Given the description of an element on the screen output the (x, y) to click on. 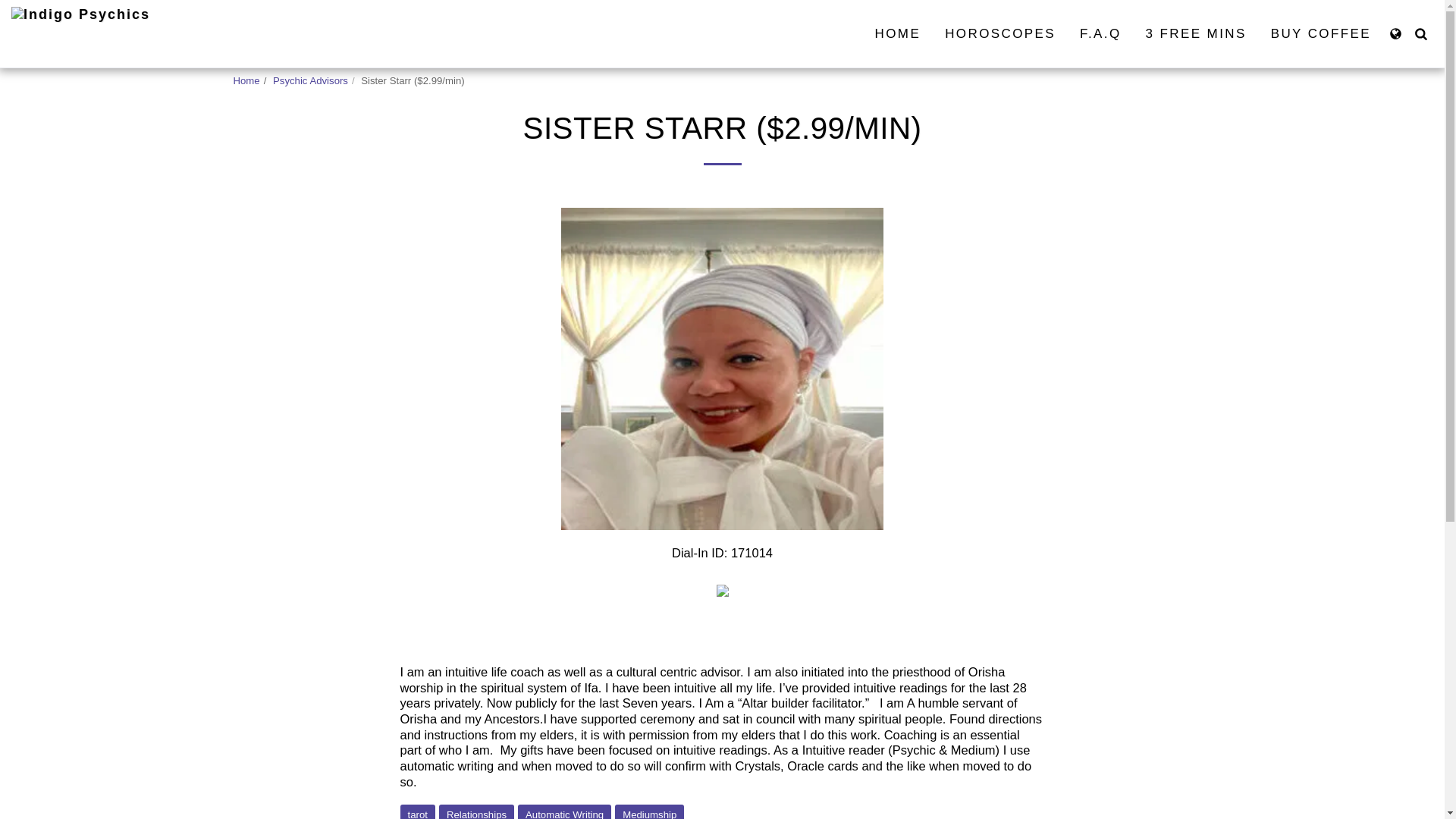
BUY COFFEE (1320, 33)
HOME (898, 33)
Automatic Writing (564, 811)
3 FREE MINS (1195, 33)
Relationships (476, 811)
tarot (417, 811)
Psychic Advisors (310, 80)
Mediumship (649, 811)
Home (246, 80)
